Given the description of an element on the screen output the (x, y) to click on. 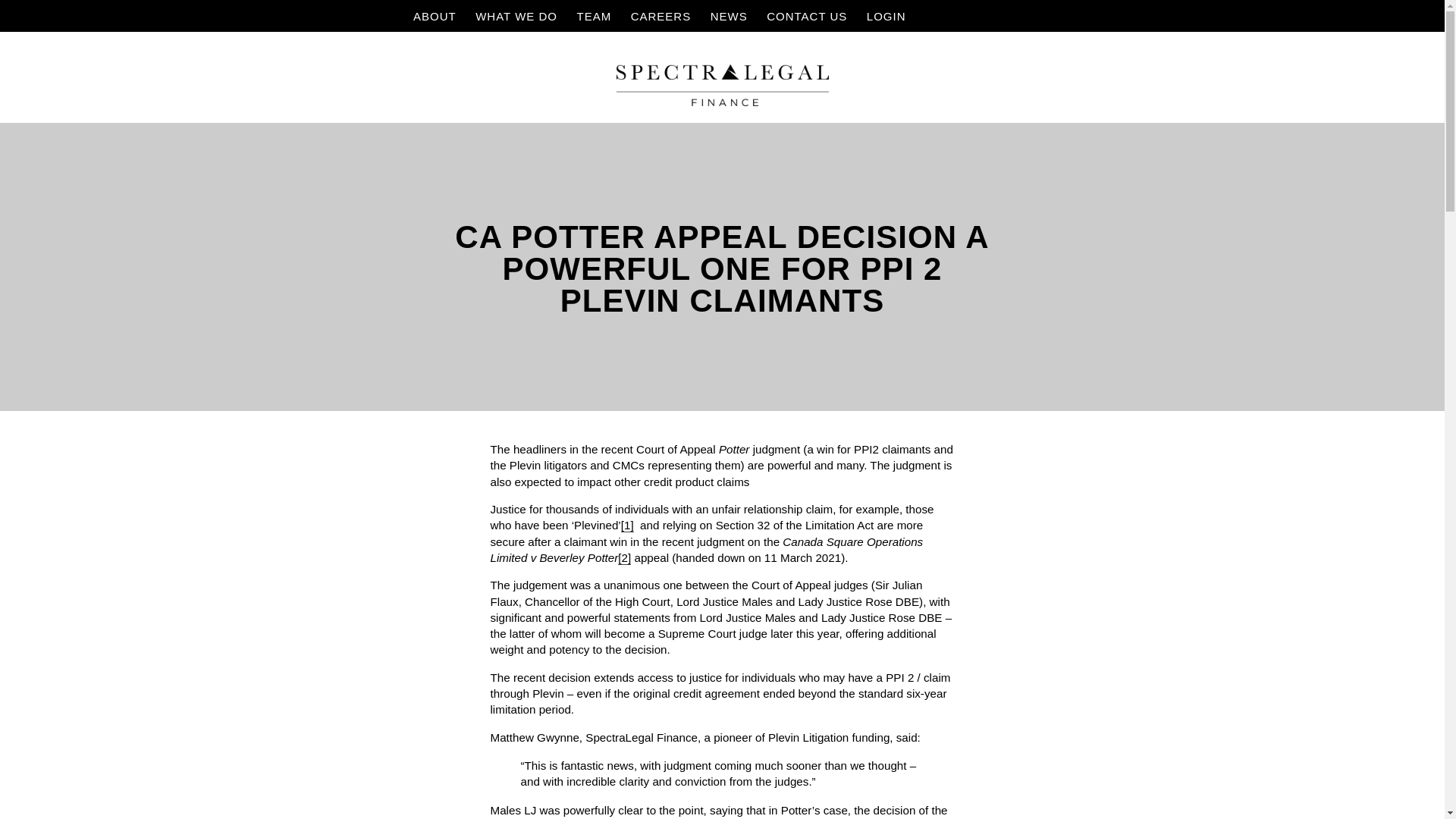
CONTACT US (811, 16)
TEAM (597, 16)
WHAT WE DO (520, 16)
LOGIN (882, 16)
NEWS (732, 16)
ABOUT (438, 16)
CAREERS (664, 16)
